Given the description of an element on the screen output the (x, y) to click on. 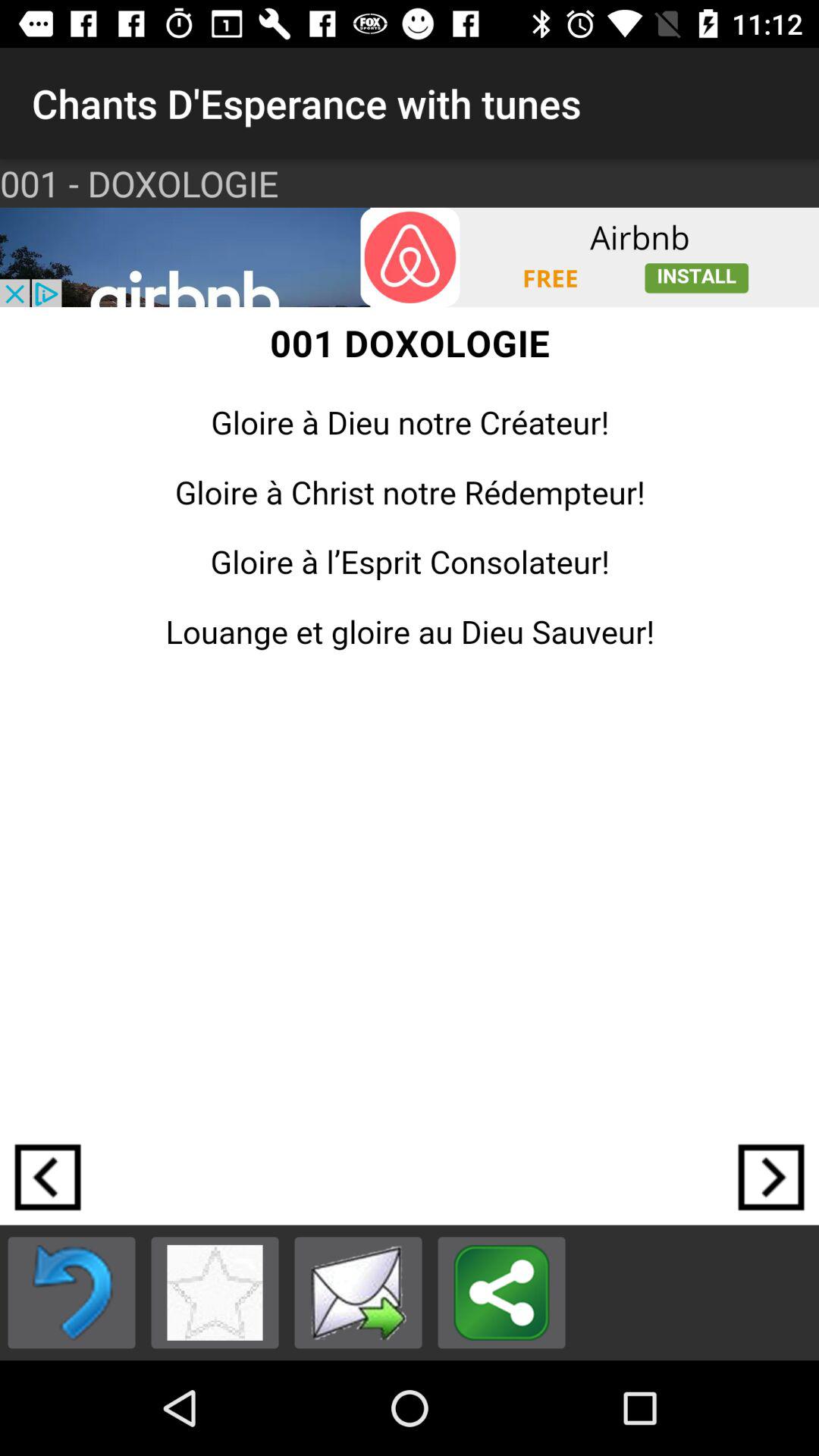
links (501, 1292)
